Given the description of an element on the screen output the (x, y) to click on. 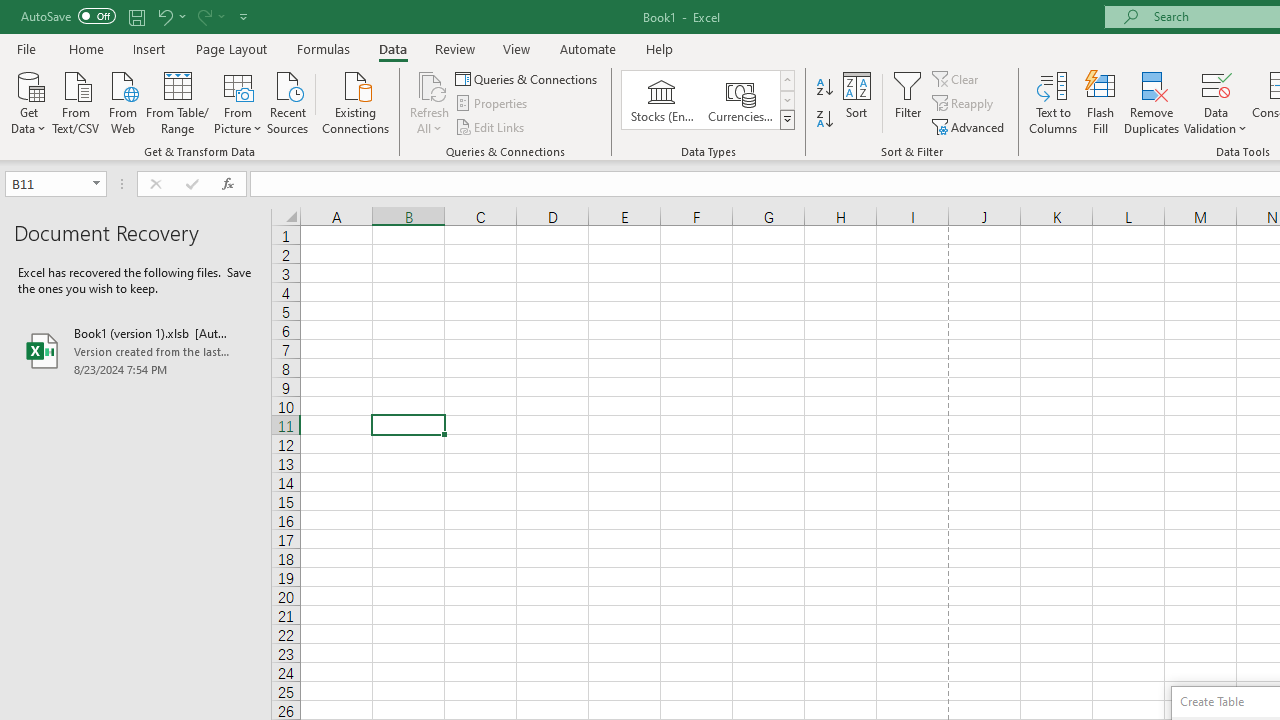
Refresh All (429, 84)
Name Box (56, 183)
System (10, 11)
Home (86, 48)
Existing Connections (355, 101)
From Web (122, 101)
View (517, 48)
Stocks (English) (662, 100)
From Table/Range (177, 101)
From Text/CSV (75, 101)
Row Down (786, 100)
Redo (203, 15)
Data (392, 48)
More Options (1215, 121)
